Given the description of an element on the screen output the (x, y) to click on. 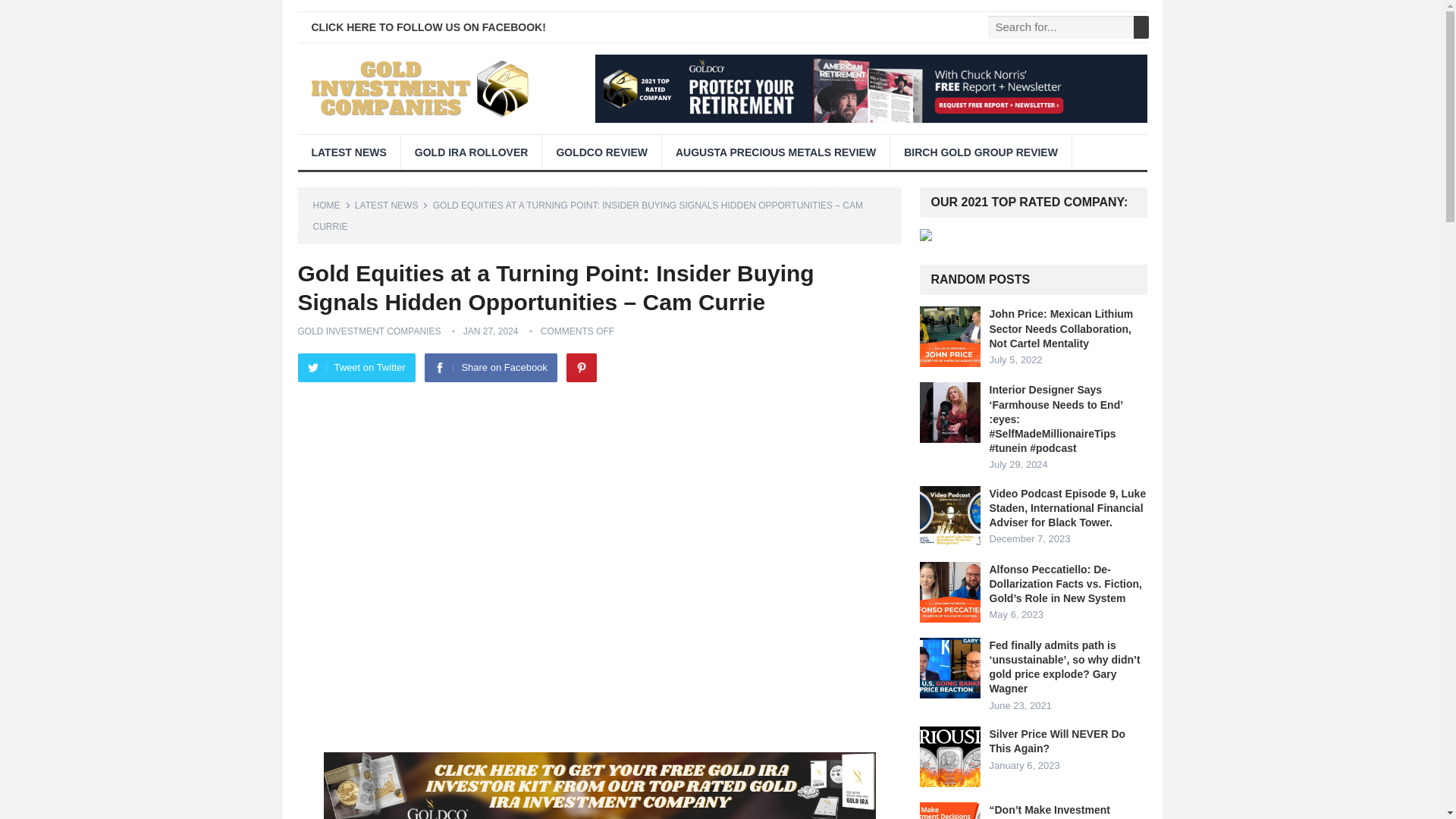
Silver Price Will NEVER Do This Again? 18 (948, 756)
View all posts in LATEST NEWS (392, 204)
CLICK HERE TO FOLLOW US ON FACEBOOK! (428, 27)
HOME (331, 204)
LATEST NEWS (347, 152)
Posts by Gold Investment Companies (369, 330)
AUGUSTA PRECIOUS METALS REVIEW (775, 152)
BIRCH GOLD GROUP REVIEW (980, 152)
